Given the description of an element on the screen output the (x, y) to click on. 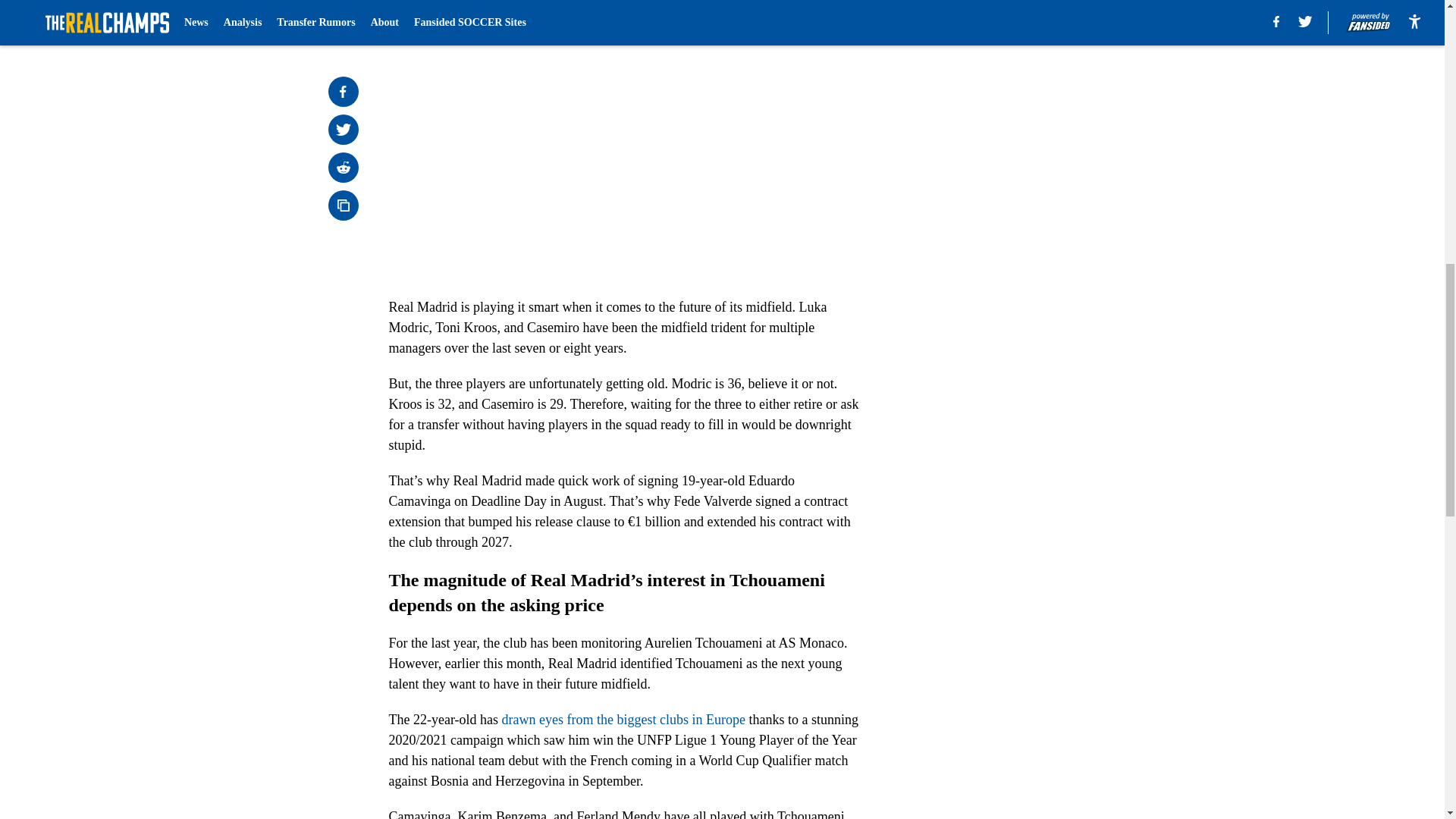
drawn eyes from the biggest clubs in Europe (623, 719)
